Given the description of an element on the screen output the (x, y) to click on. 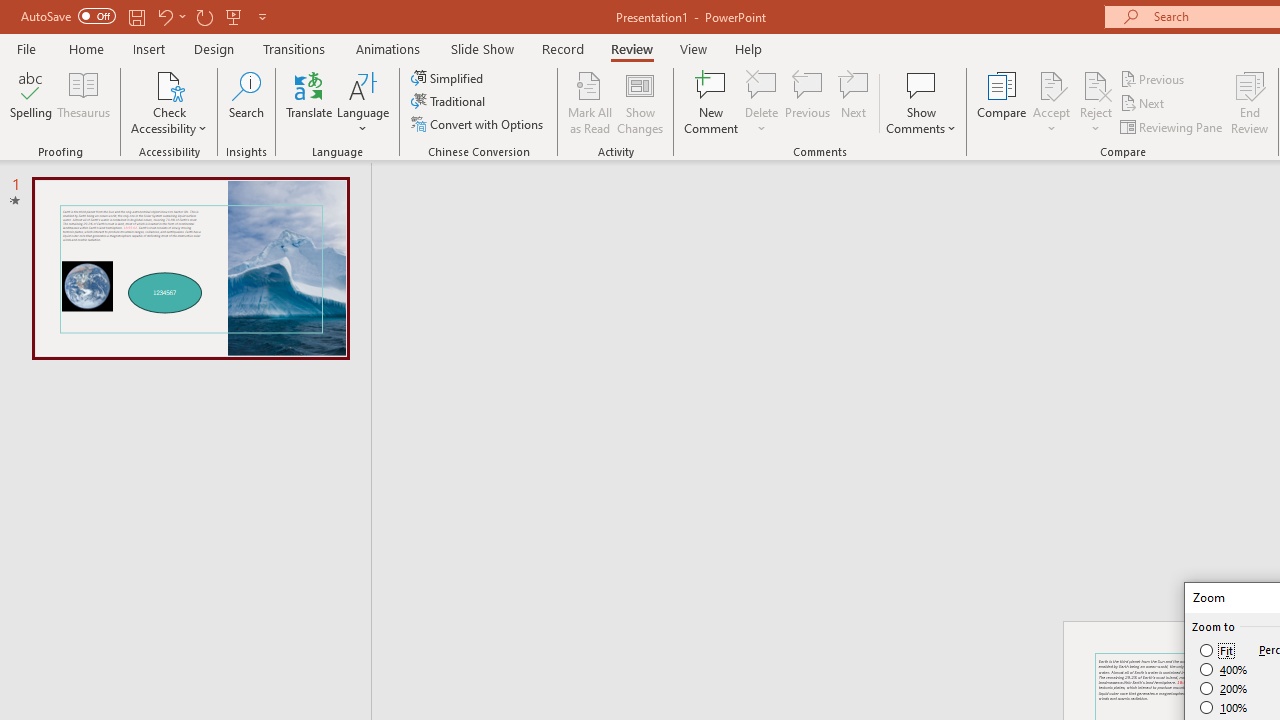
Translate (309, 102)
End Review (1249, 102)
Reviewing Pane (1172, 126)
